Given the description of an element on the screen output the (x, y) to click on. 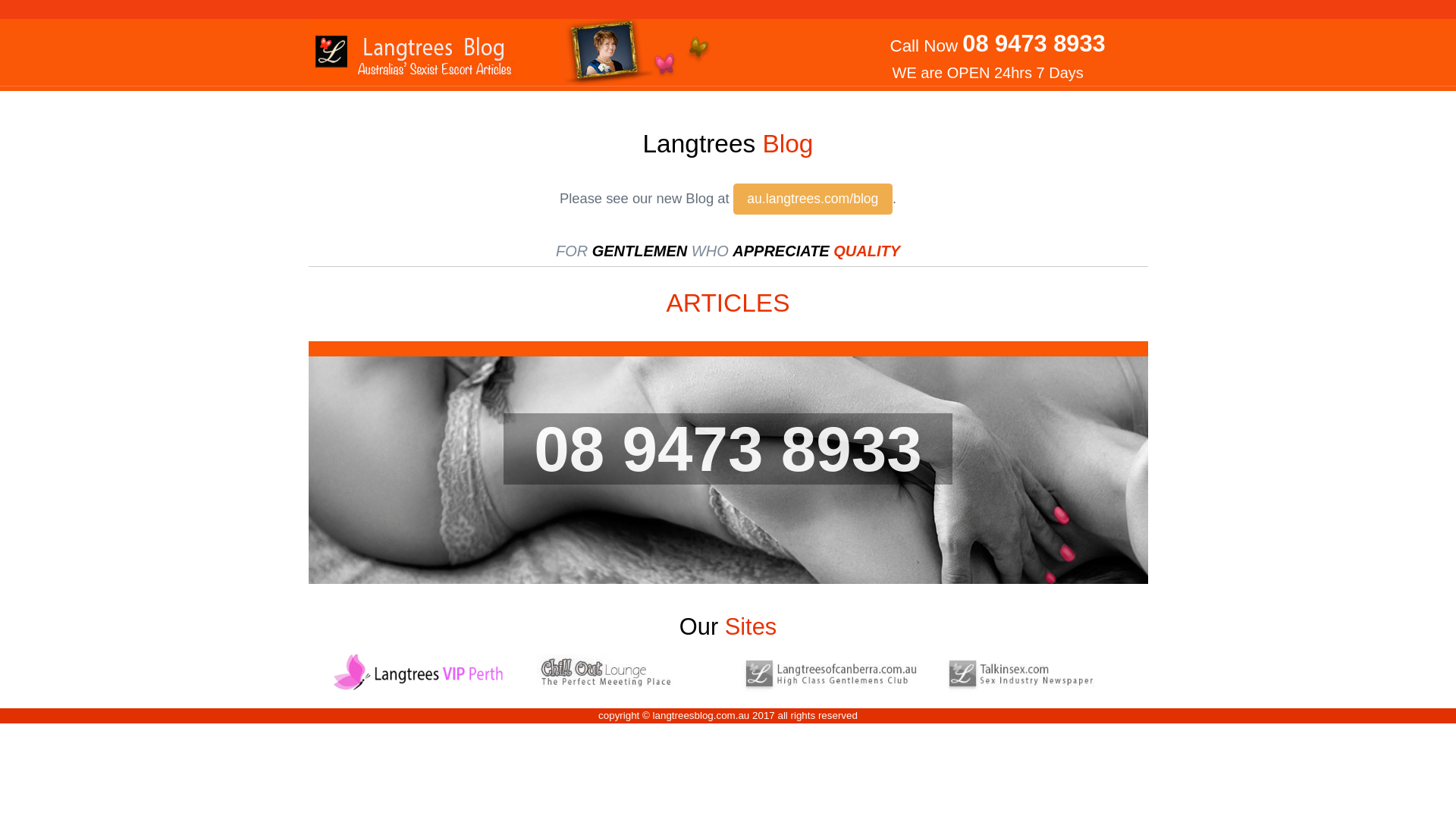
au.langtrees.com/blog Element type: text (812, 199)
08 9473 8933 Element type: text (727, 447)
08 9473 8933 Element type: text (1033, 43)
